Given the description of an element on the screen output the (x, y) to click on. 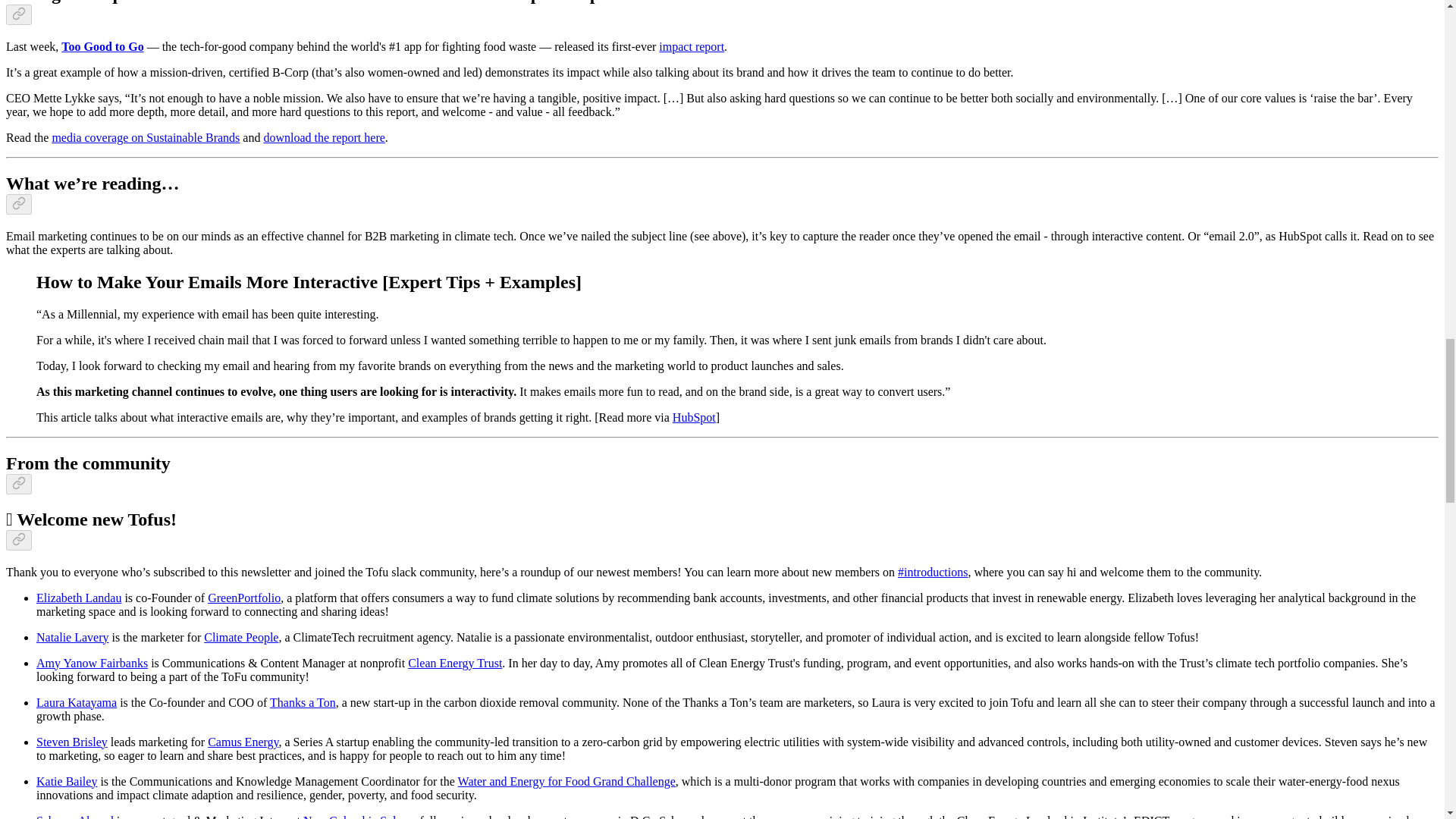
Climate People (240, 636)
Elizabeth Landau (78, 597)
Natalie Lavery (72, 636)
impact report (691, 46)
download the report here (323, 137)
Too Good to Go (101, 46)
media coverage on Sustainable Brands (145, 137)
GreenPortfolio (244, 597)
HubSpot (694, 417)
